Given the description of an element on the screen output the (x, y) to click on. 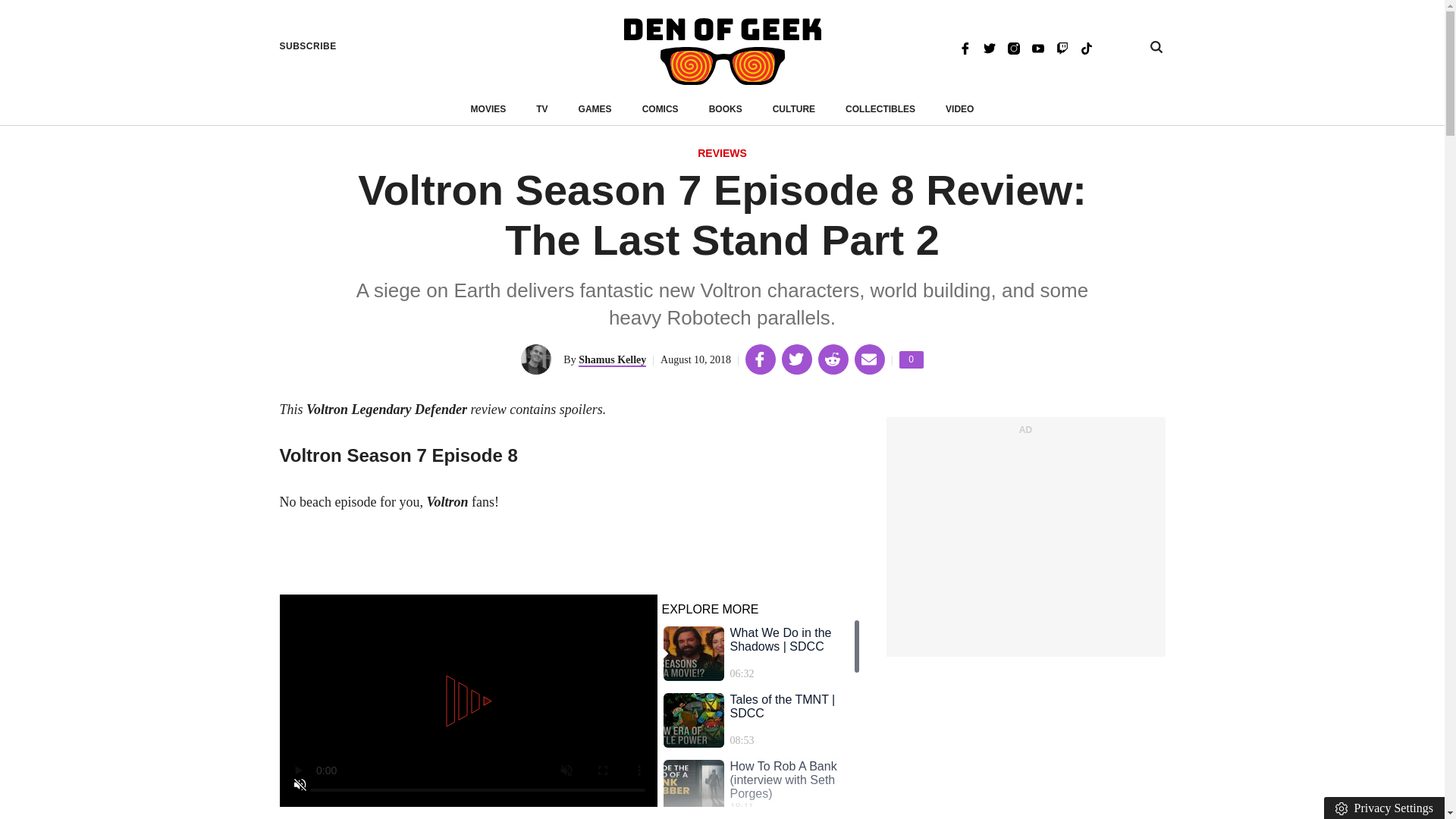
MOVIES (488, 109)
BOOKS (725, 109)
TikTok (1085, 46)
COLLECTIBLES (880, 109)
REVIEWS (721, 153)
Instagram (1013, 46)
SUBSCRIBE (307, 46)
Den of Geek (722, 52)
Twitter (988, 46)
VIDEO (959, 109)
COMICS (660, 109)
3rd party ad content (1024, 544)
Twitch (1061, 46)
CULTURE (911, 359)
